Given the description of an element on the screen output the (x, y) to click on. 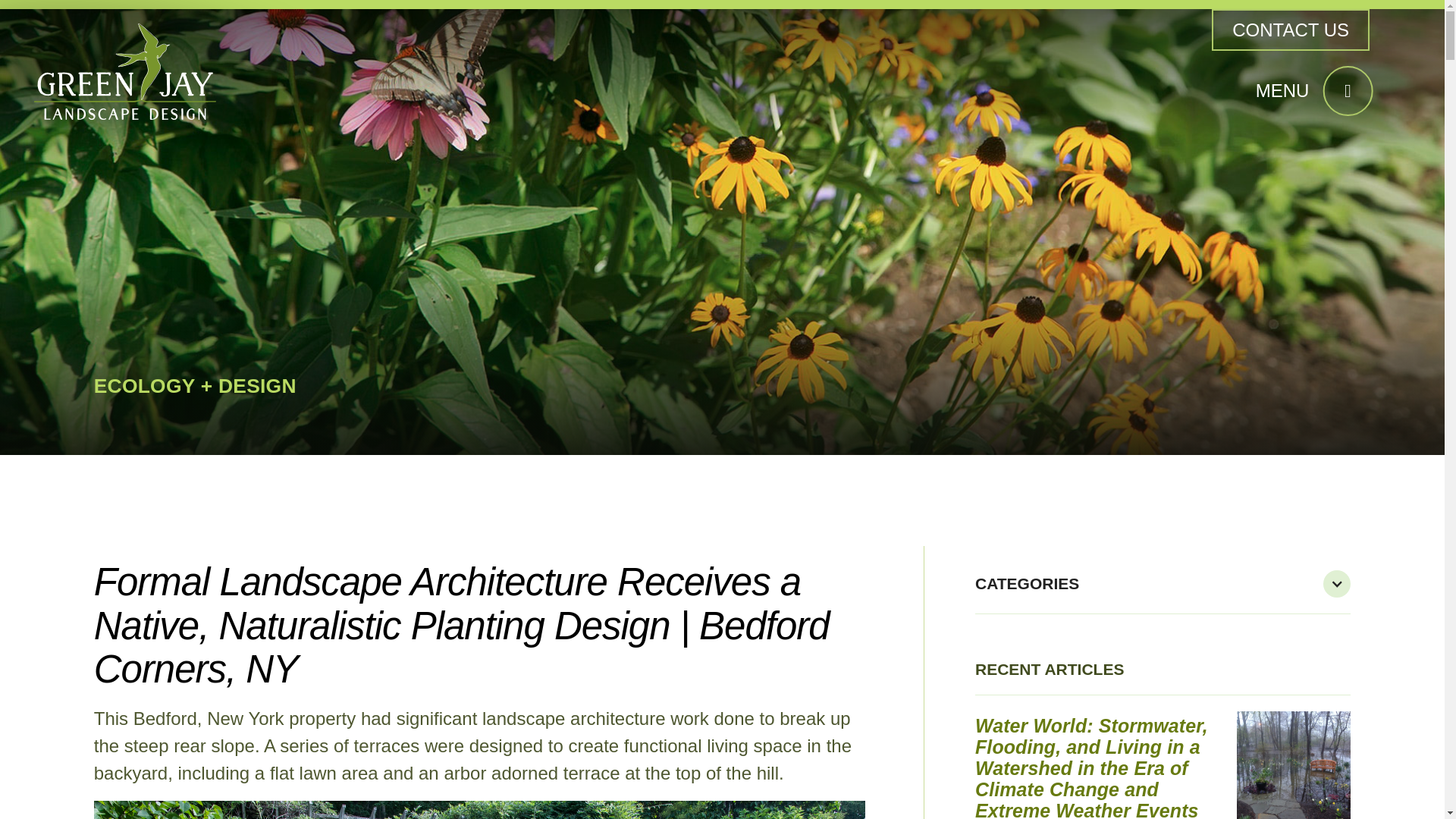
CONTACT US (1290, 29)
